Given the description of an element on the screen output the (x, y) to click on. 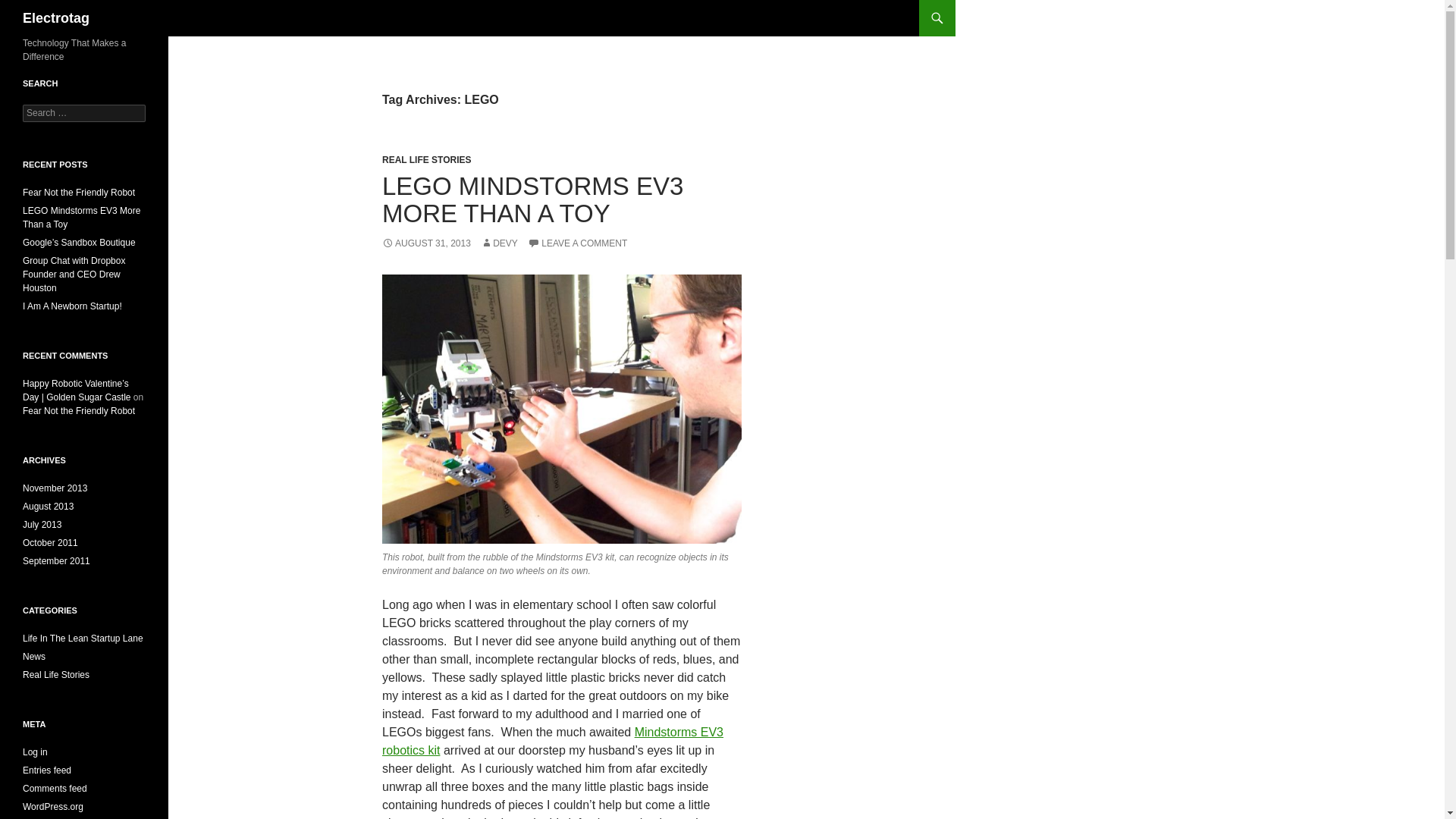
Fear Not the Friendly Robot (79, 192)
Electrotag (55, 18)
Mindstorms EV3 robotics kit (552, 740)
DEVY (499, 243)
Search (30, 8)
AUGUST 31, 2013 (425, 243)
I Am A Newborn Startup! (72, 306)
LEAVE A COMMENT (577, 243)
LEGO Mindstorms EV3 More Than a Toy (81, 217)
REAL LIFE STORIES (426, 159)
